Given the description of an element on the screen output the (x, y) to click on. 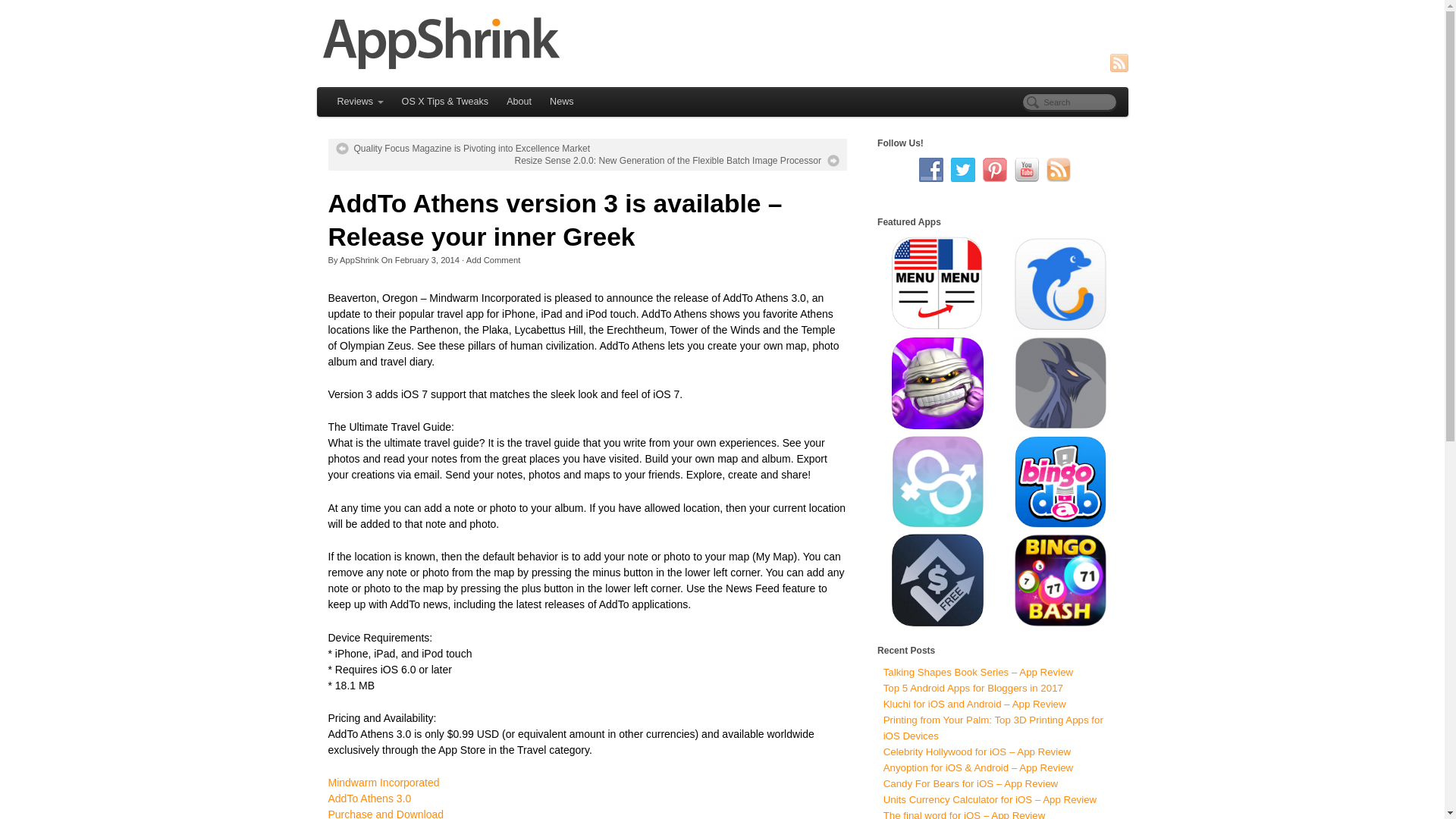
Reviews (359, 102)
Purchase and Download (385, 813)
News (561, 102)
AppShrink (722, 41)
AddTo Athens 3.0 (368, 798)
Mindwarm Incorporated (383, 782)
Mindwarm Incorporated (383, 782)
Posts by AppShrink (358, 259)
AddTo Athens 3.0 (368, 798)
Add Comment (493, 259)
Purchase and Download (385, 813)
Quality Focus Magazine is Pivoting into Excellence Market (461, 148)
AppShrink (358, 259)
Reviews (359, 102)
